Given the description of an element on the screen output the (x, y) to click on. 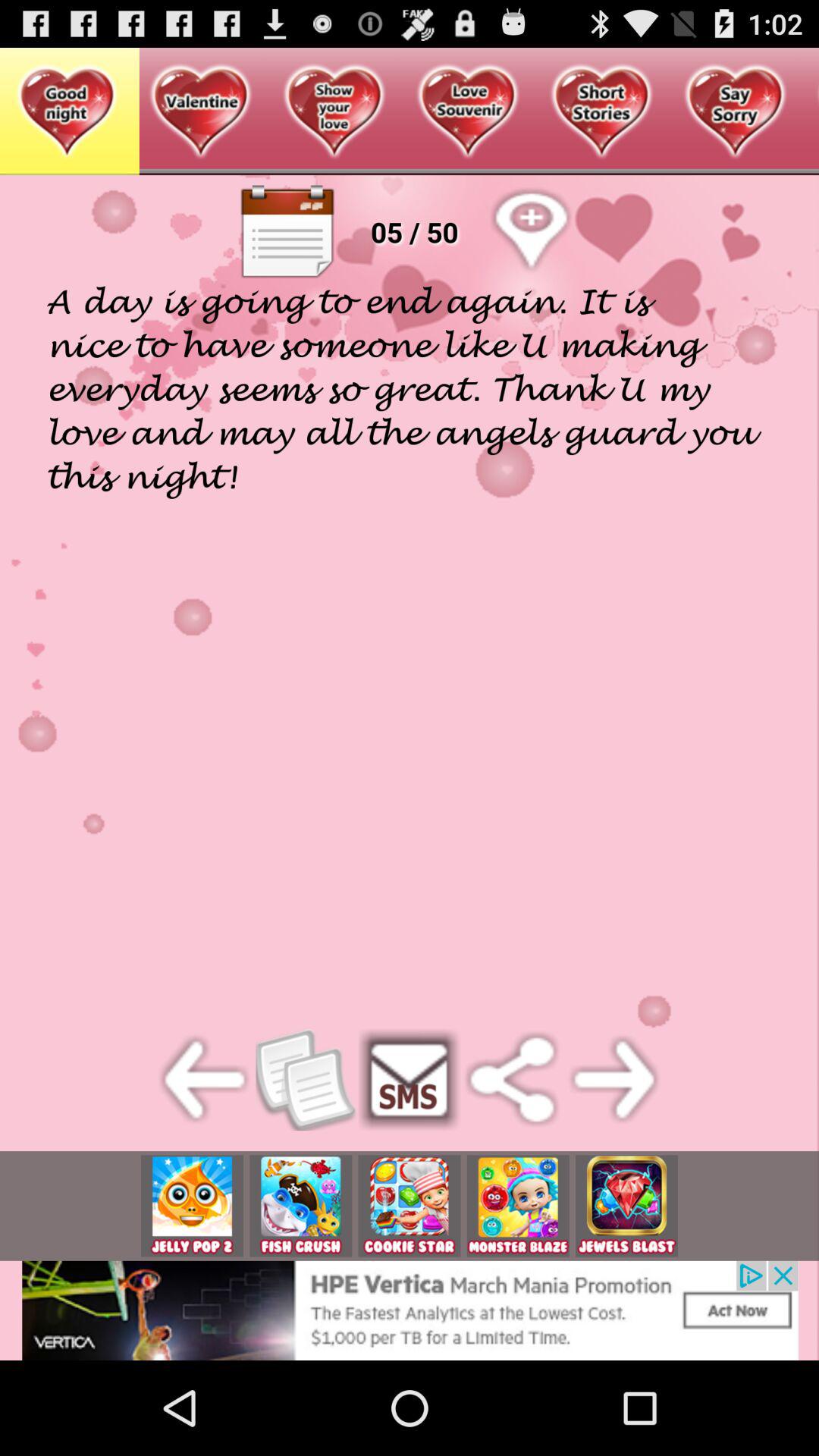
open fish crush (300, 1205)
